Given the description of an element on the screen output the (x, y) to click on. 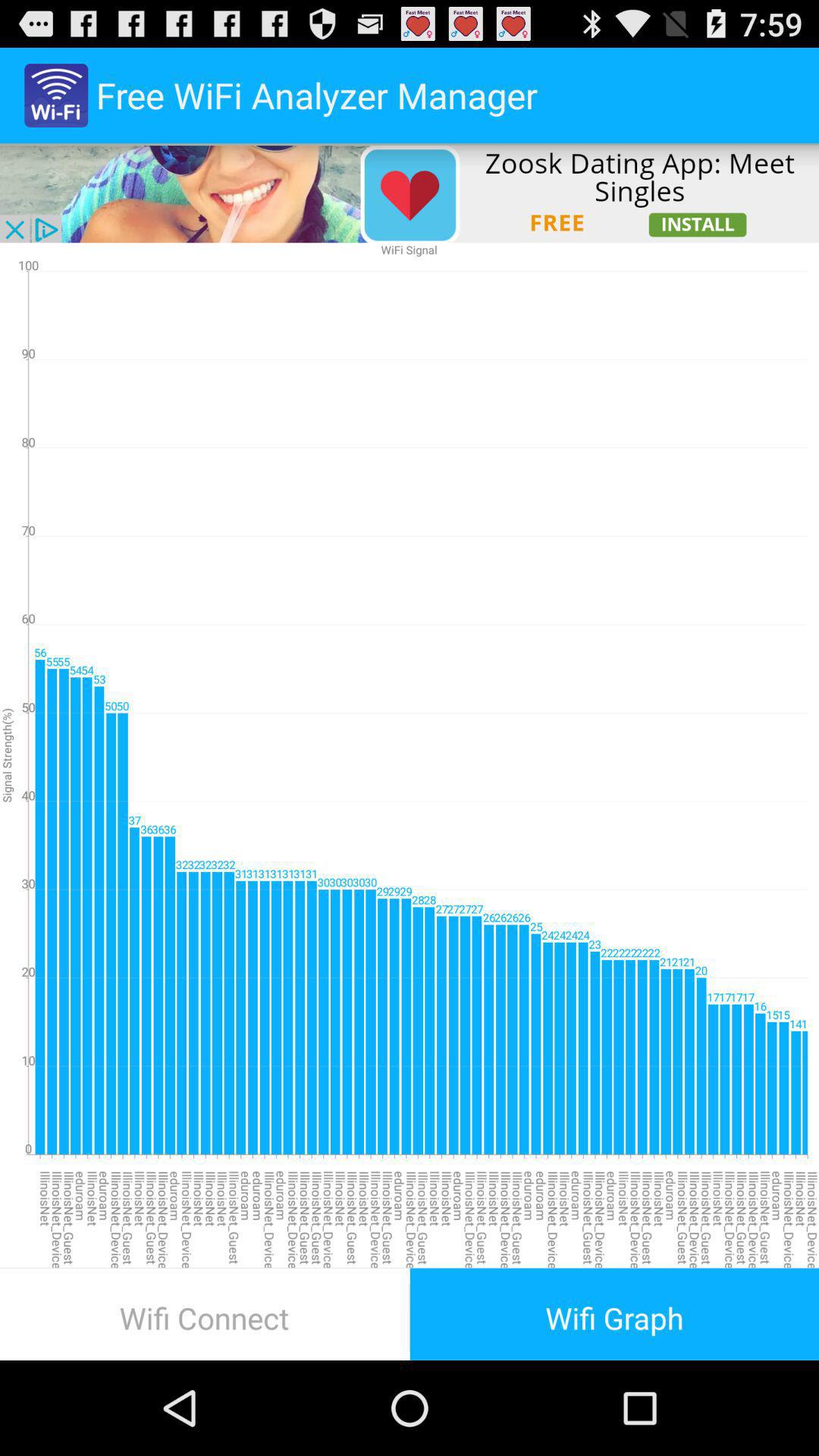
advertisement option (409, 192)
